Given the description of an element on the screen output the (x, y) to click on. 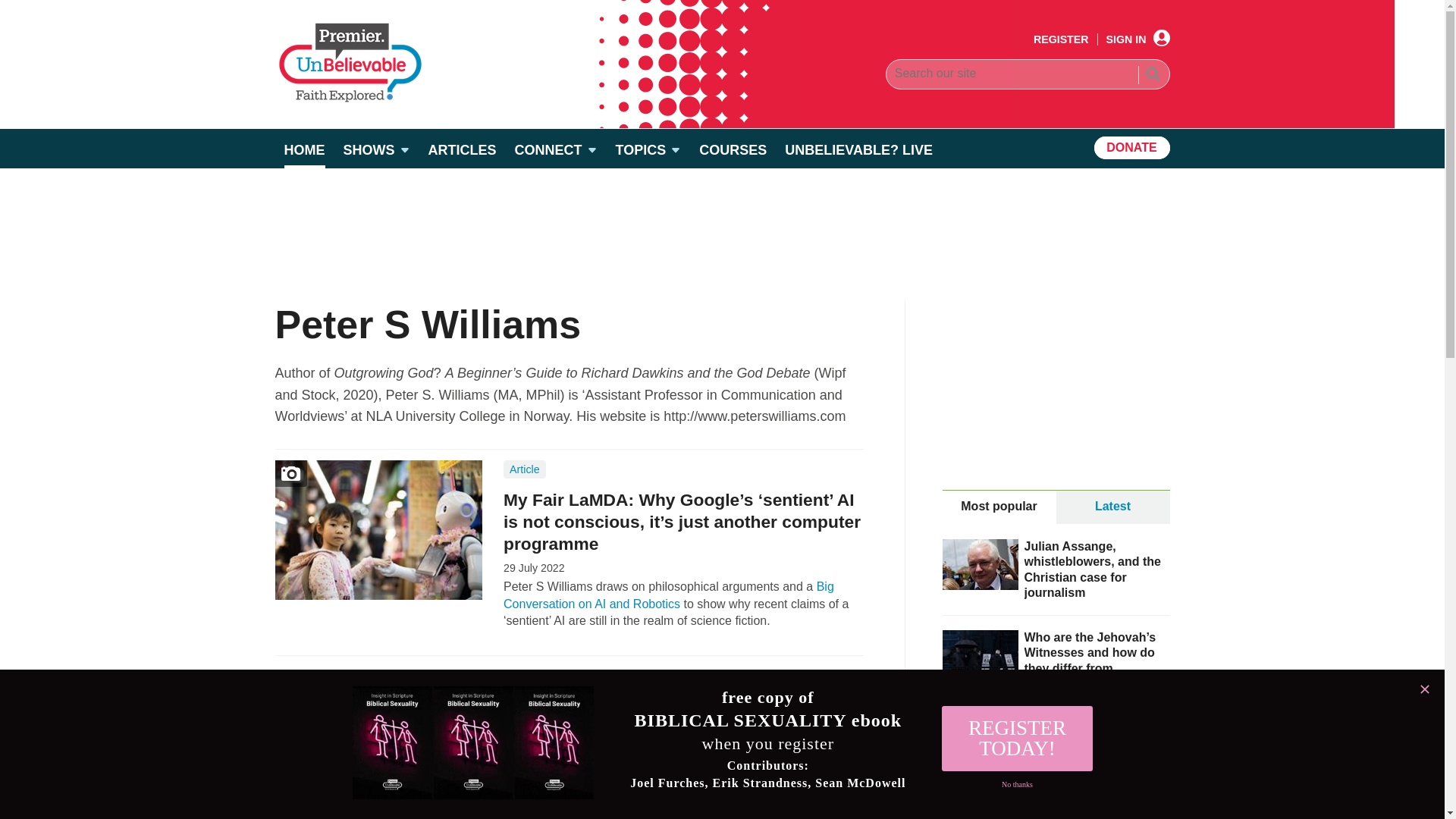
REGISTER TODAY! (1017, 738)
Read our cookie policy (183, 738)
TBC (668, 594)
SEARCH (1152, 75)
Close (1424, 689)
REGISTER (1061, 39)
OK (298, 739)
3rd party ad content (1055, 394)
SIGN IN (1138, 39)
No thanks (1017, 784)
3rd party ad content (721, 220)
